Given the description of an element on the screen output the (x, y) to click on. 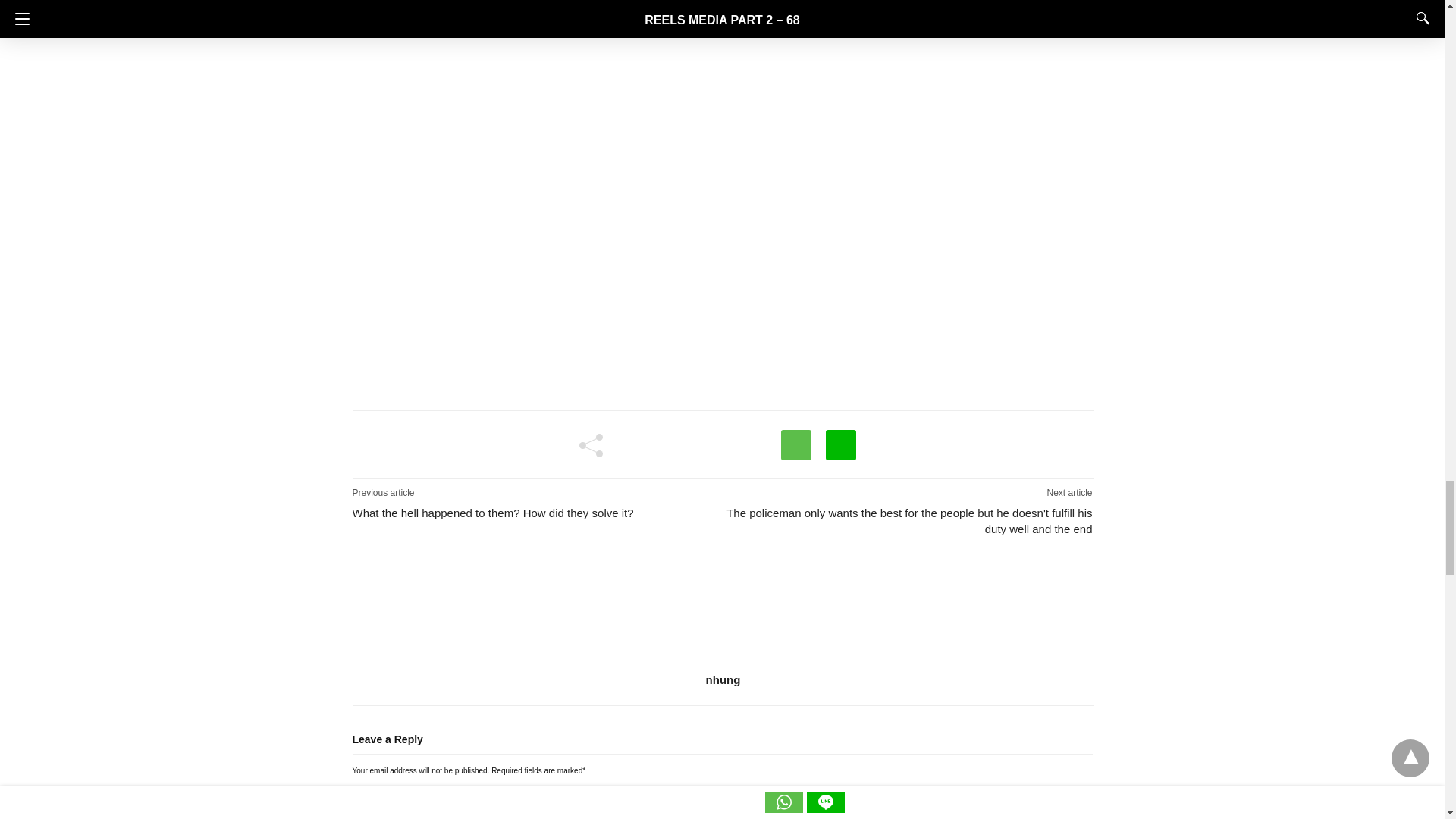
nhung (723, 679)
What the hell happened to them? How did they solve it? (537, 512)
